Given the description of an element on the screen output the (x, y) to click on. 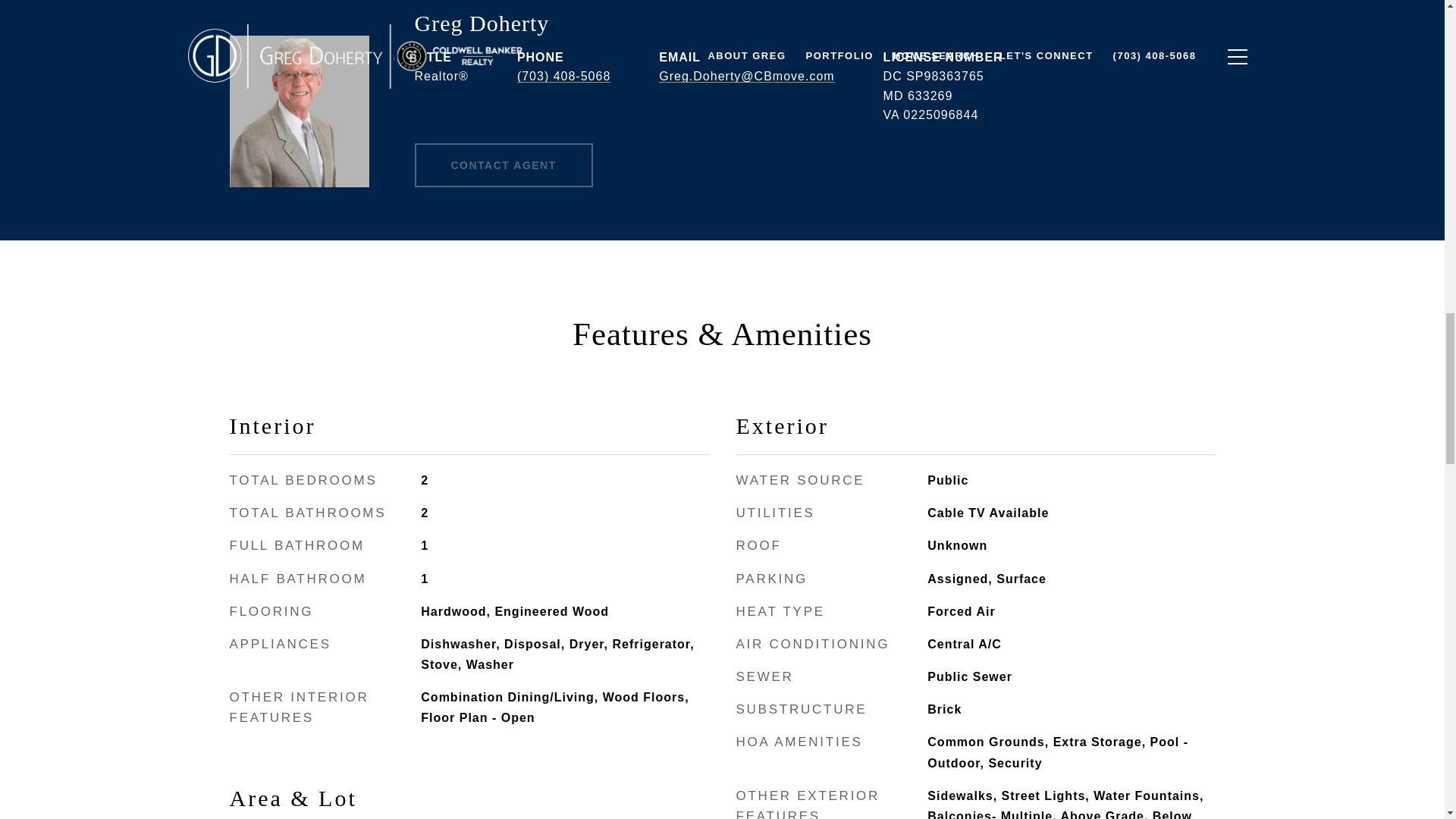
CONTACT AGENT (502, 165)
